Given the description of an element on the screen output the (x, y) to click on. 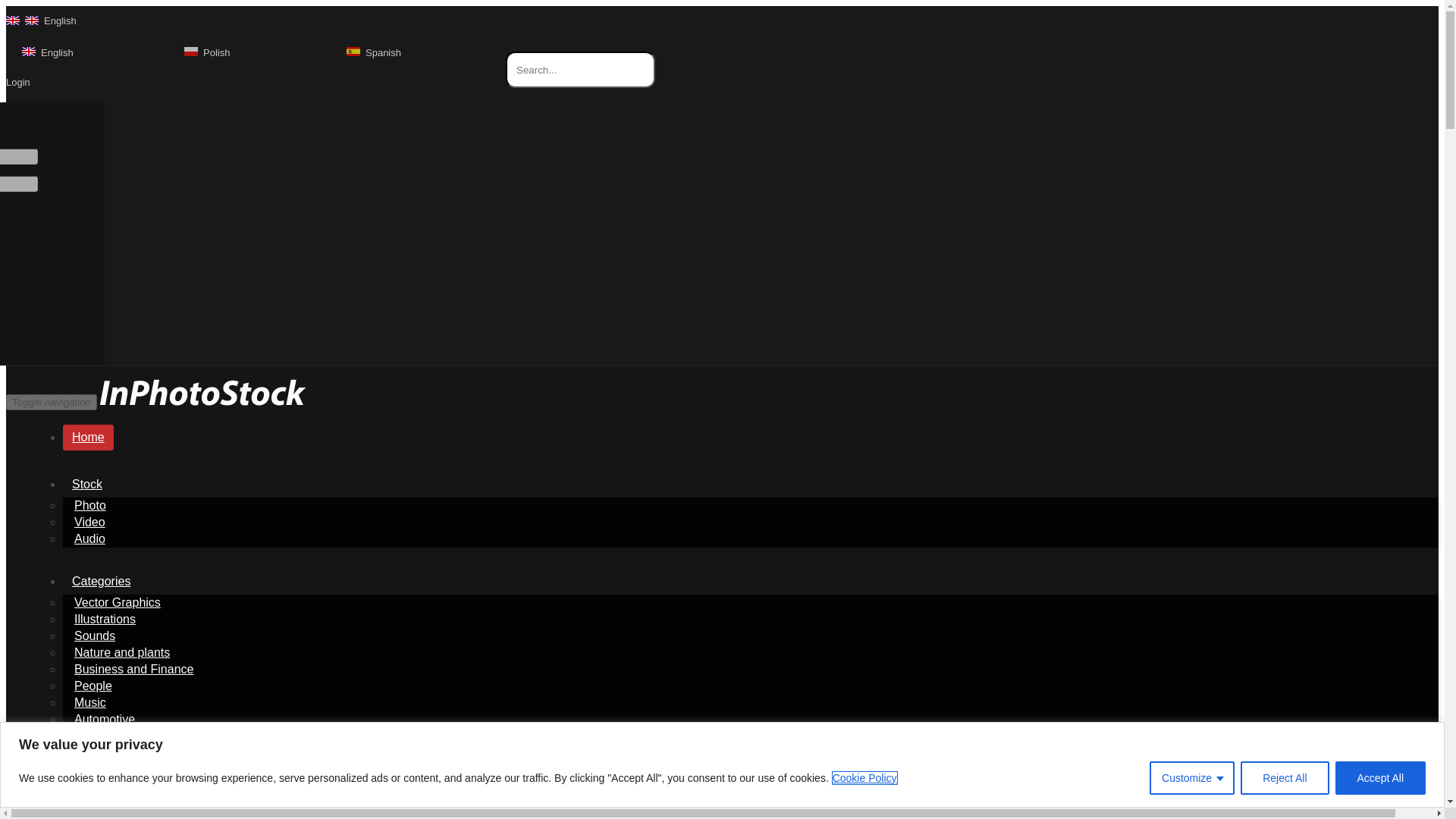
Home (87, 437)
Video (89, 521)
Illustrations (104, 618)
Cookie Policy (864, 776)
Spanish (373, 52)
Business and Finance (133, 668)
English (47, 52)
Audio (89, 538)
Accept All (1380, 777)
Login (17, 81)
Sounds (94, 635)
Vector Graphics (116, 602)
Categories (100, 581)
Nature and plants (121, 652)
Polish (207, 52)
